Given the description of an element on the screen output the (x, y) to click on. 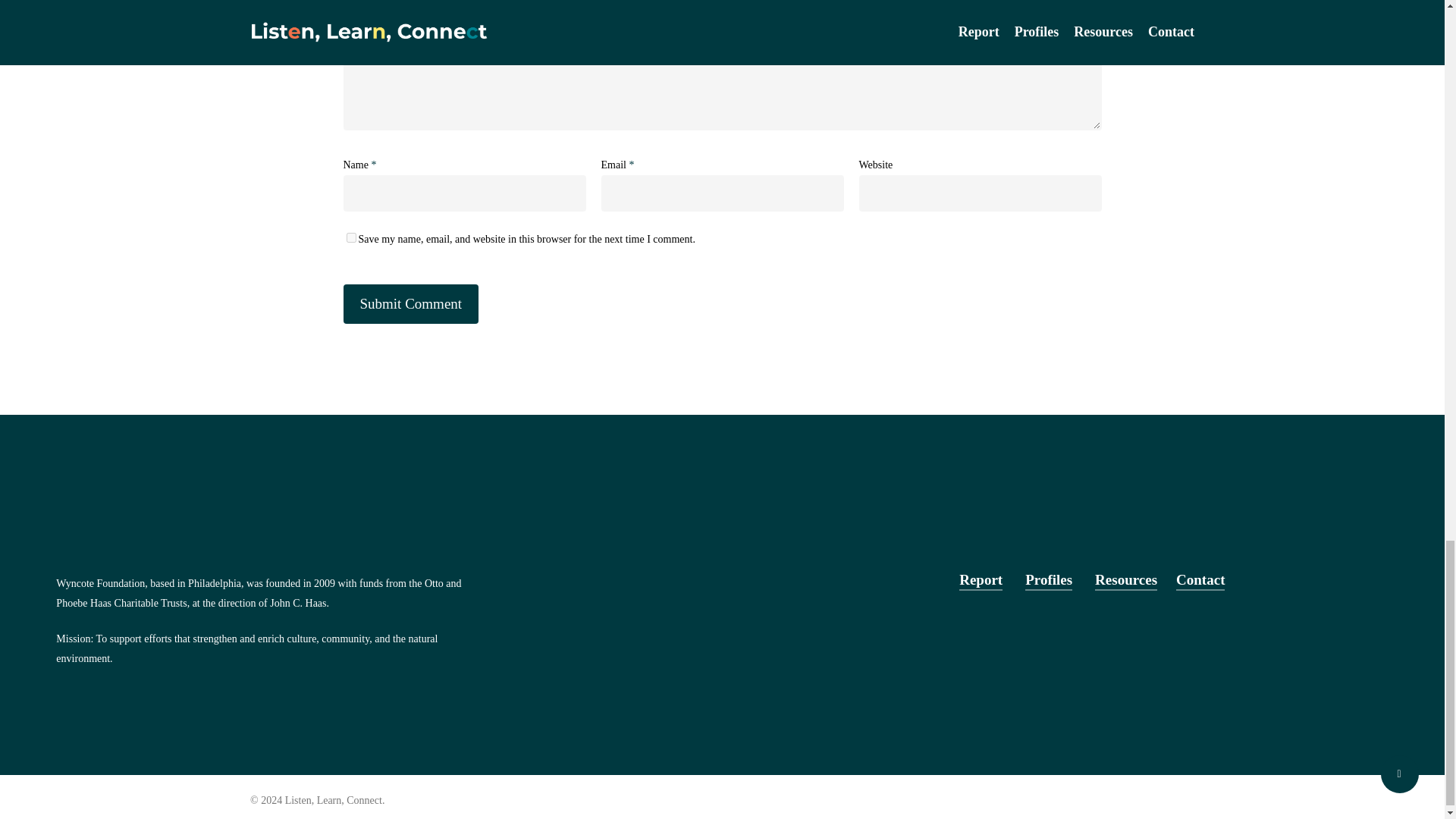
Resources (1125, 579)
yes (350, 237)
Submit Comment (410, 303)
Contact (1200, 579)
Profiles (1048, 579)
Report (981, 579)
Submit Comment (410, 303)
